Given the description of an element on the screen output the (x, y) to click on. 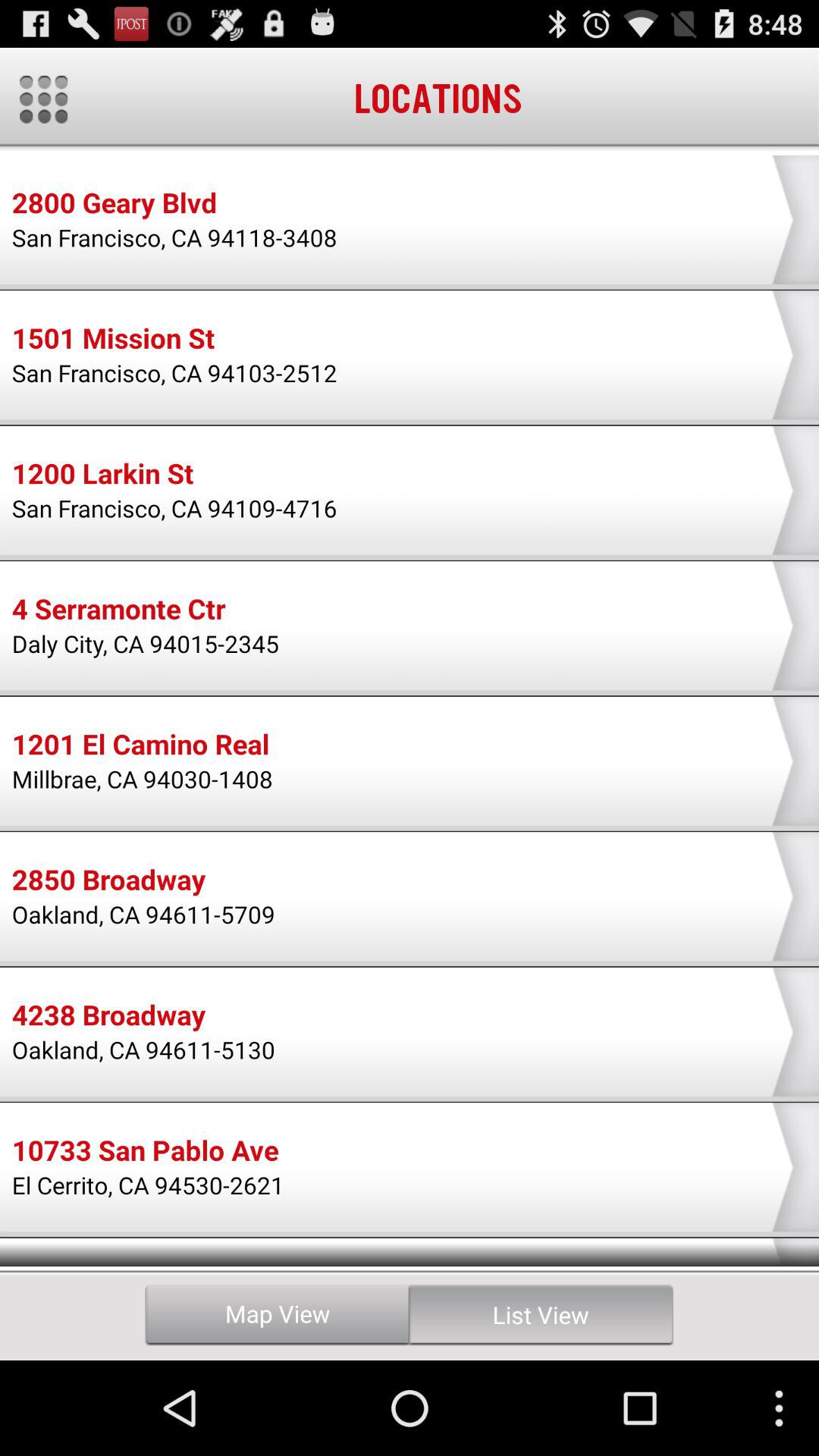
click the 10733 san pablo (144, 1152)
